Given the description of an element on the screen output the (x, y) to click on. 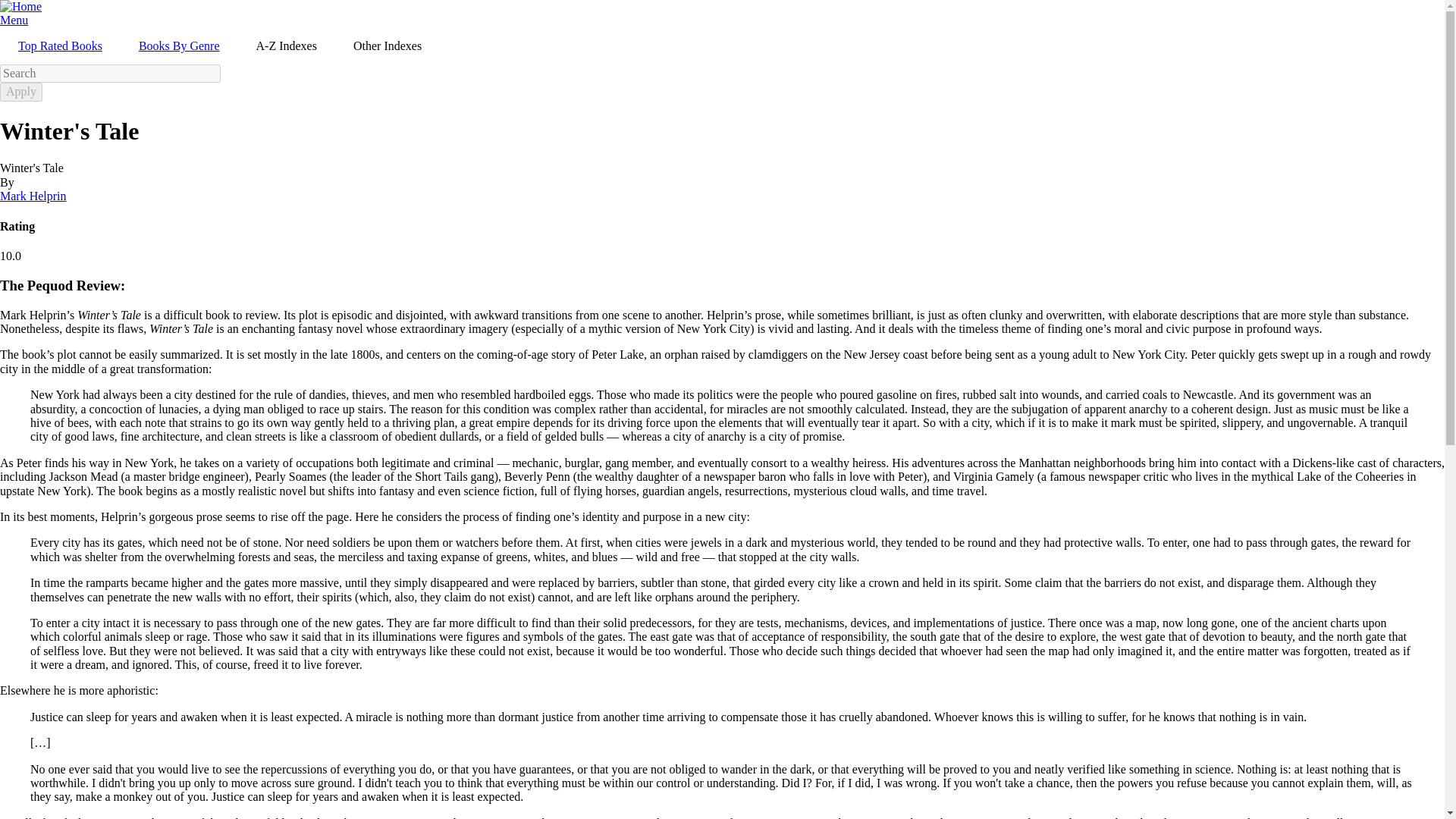
Home (21, 6)
Books By Genre (179, 45)
Menu (13, 19)
Apply (21, 91)
Mark Helprin (33, 195)
Top Rated Books (60, 45)
Apply (21, 91)
Menu (13, 19)
